Given the description of an element on the screen output the (x, y) to click on. 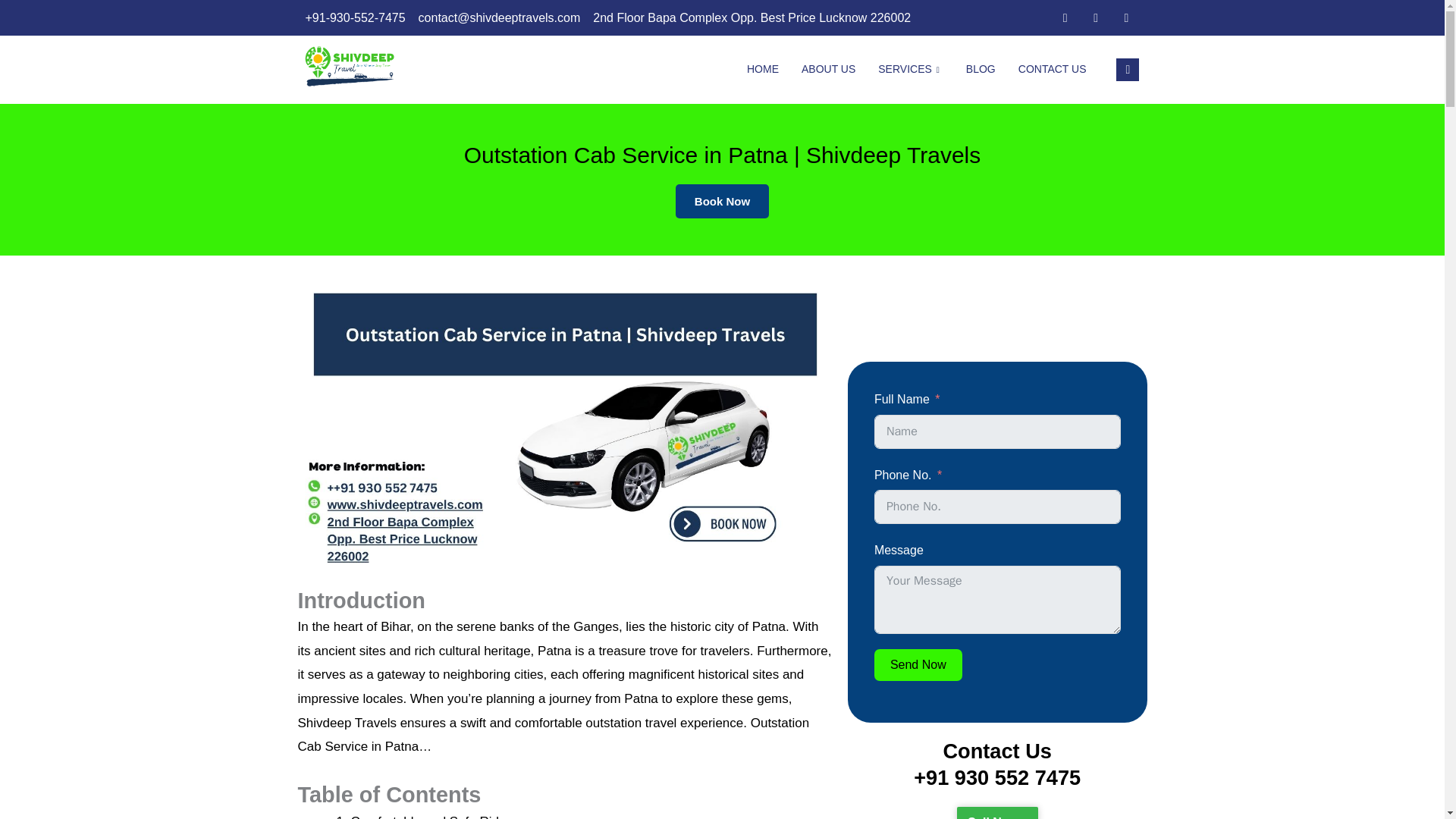
BLOG (981, 69)
1. Comfortable and Safe Rides (424, 816)
HOME (762, 69)
CONTACT US (1052, 69)
Patna (767, 626)
SERVICES (910, 69)
Book Now (721, 200)
ABOUT US (828, 69)
